Given the description of an element on the screen output the (x, y) to click on. 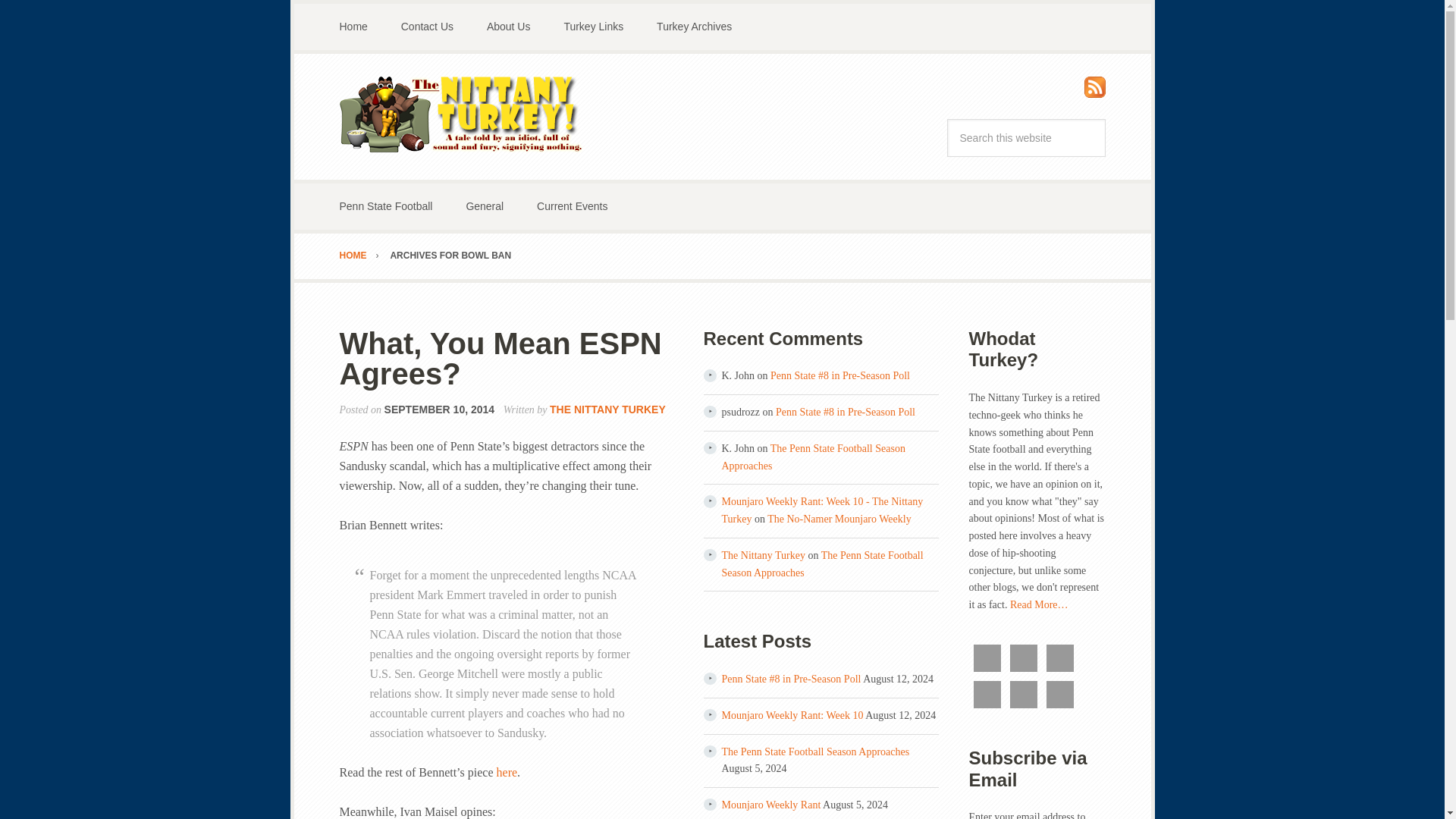
Home (353, 26)
here (507, 771)
Turkey Archives (694, 26)
THE NITTANY TURKEY (607, 409)
Current Events (572, 206)
Contact Us (426, 26)
Turkey Links (593, 26)
Subscribe to posts (1094, 90)
